Given the description of an element on the screen output the (x, y) to click on. 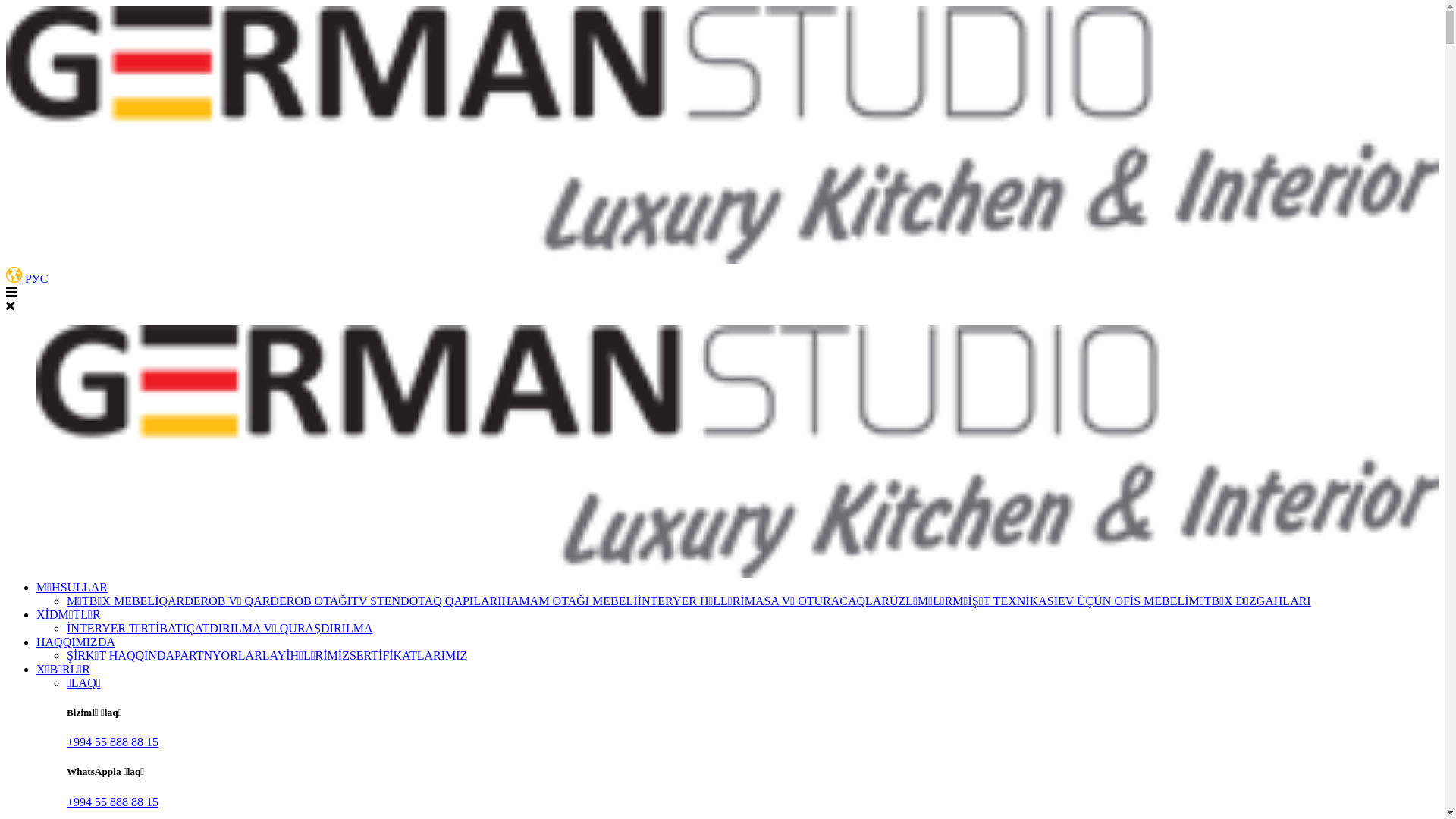
+994 55 888 88 15 Element type: text (112, 741)
HAQQIMIZDA Element type: text (79, 641)
OTAQ QAPILARI Element type: text (455, 600)
TV STEND Element type: text (380, 600)
+994 55 888 88 15 Element type: text (112, 801)
PARTNYORLAR Element type: text (218, 655)
